Given the description of an element on the screen output the (x, y) to click on. 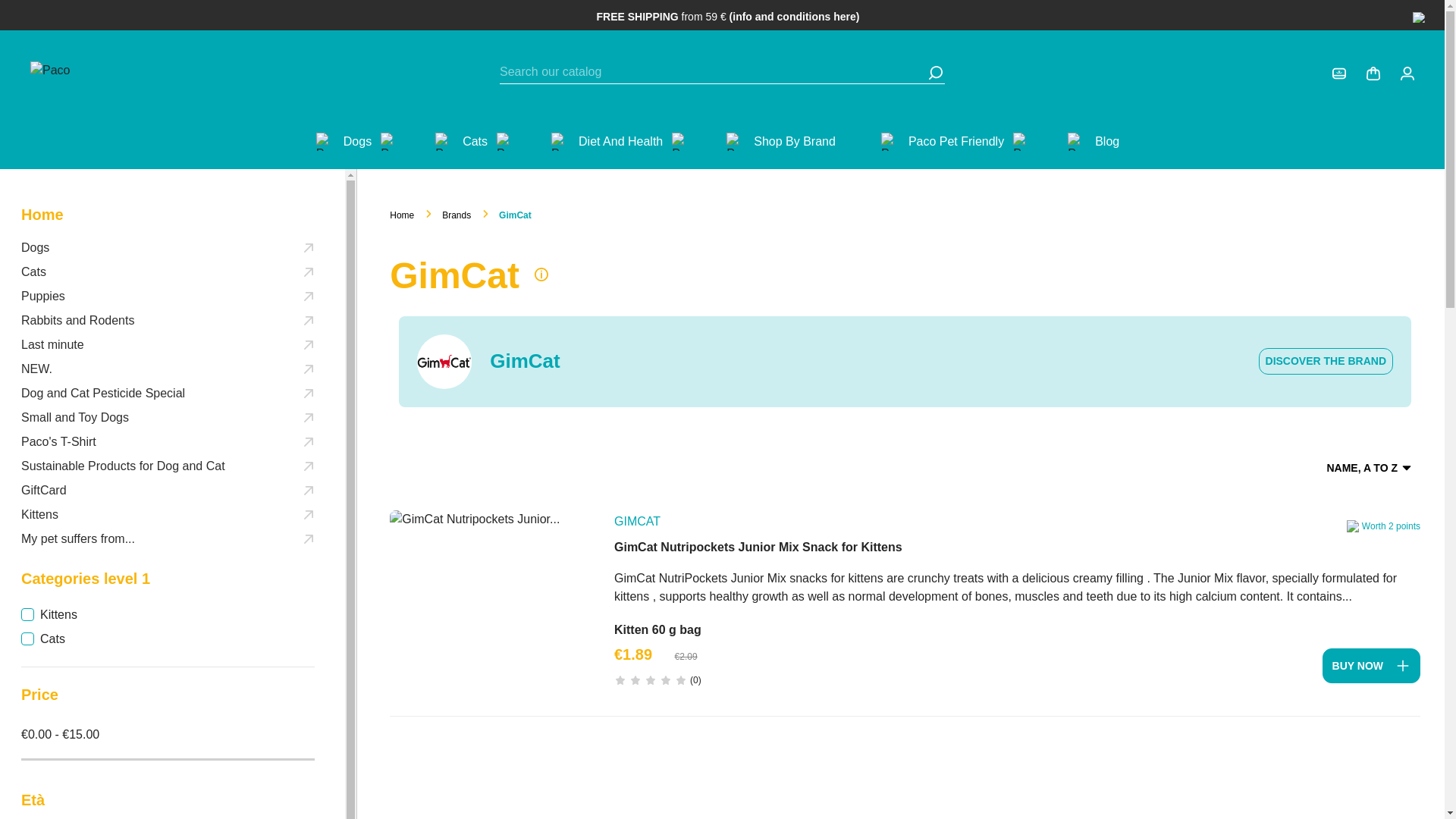
GimCat (443, 361)
GimCat (637, 521)
Dogs (357, 141)
DISCOVER THE BRAND (1326, 361)
Log in to your customer account (1406, 73)
Log in to your customer account (1338, 73)
